Given the description of an element on the screen output the (x, y) to click on. 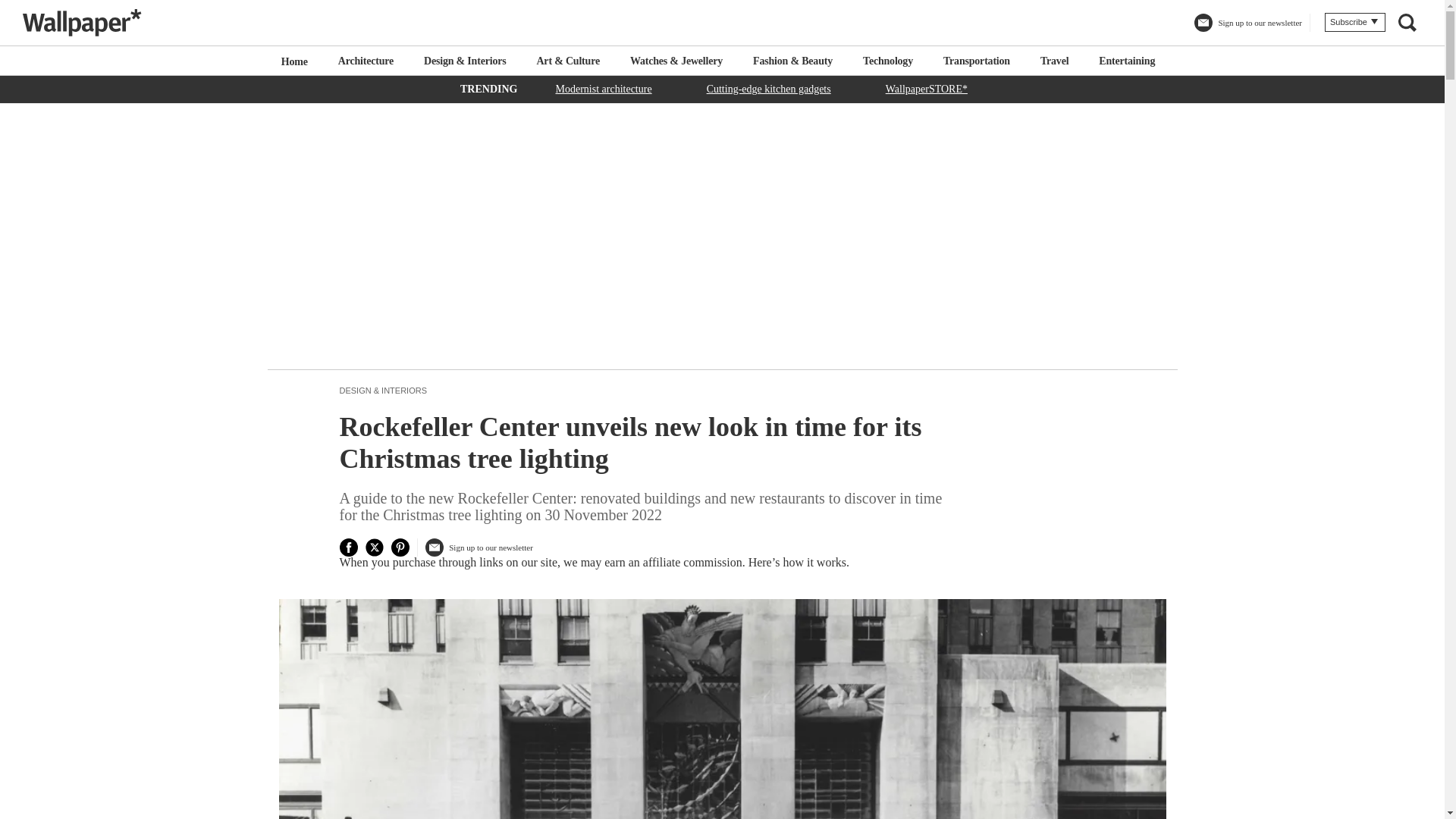
Technology (887, 60)
Sign up to our newsletter (478, 549)
Transportation (976, 60)
Travel (1054, 60)
Wallpaper (82, 22)
Wallpaper (87, 22)
Architecture (365, 60)
Entertaining (1126, 60)
Sign up to our newsletter (1247, 24)
Cutting-edge kitchen gadgets (768, 88)
